Given the description of an element on the screen output the (x, y) to click on. 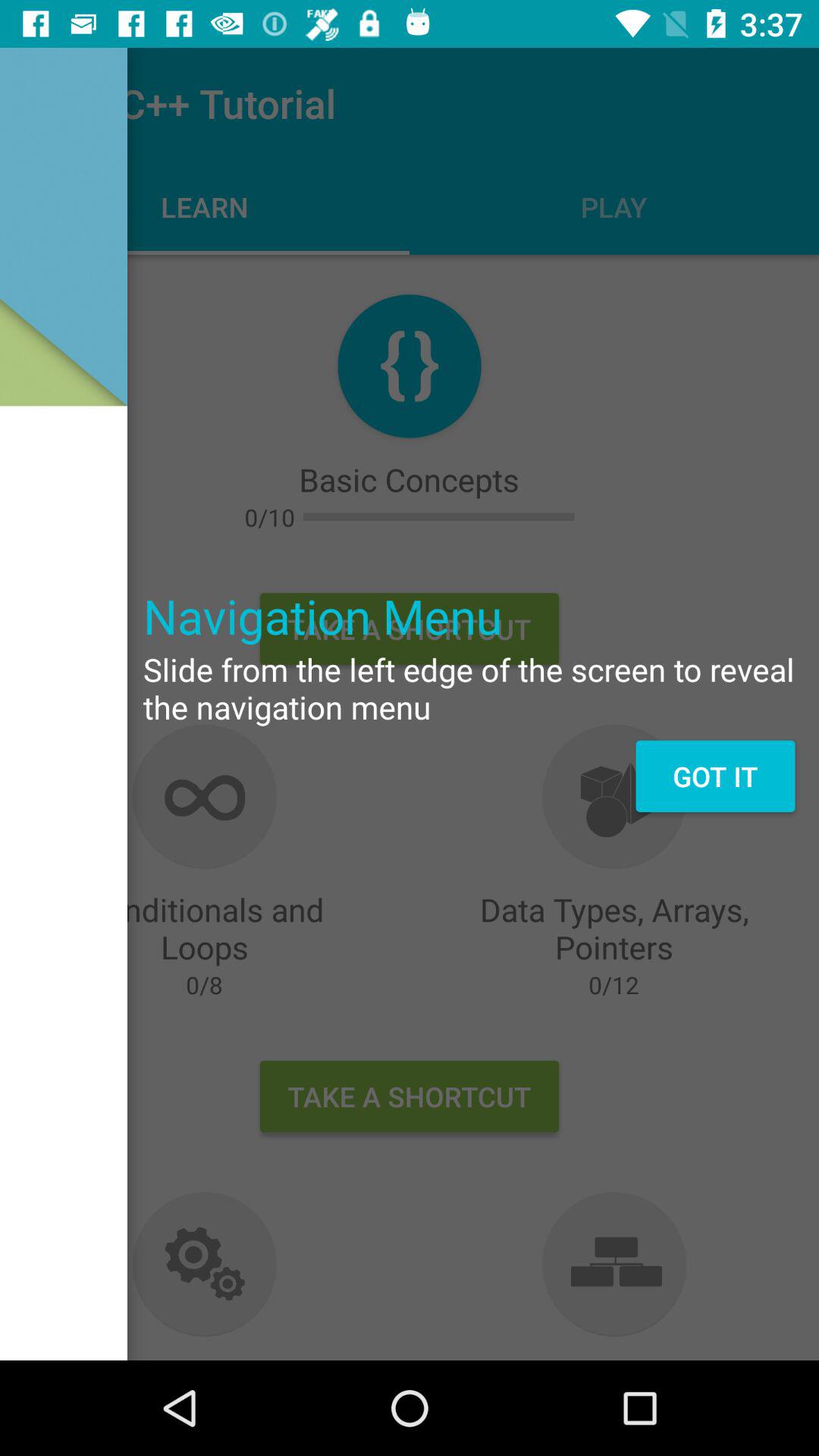
press item below the slide from the (715, 776)
